Given the description of an element on the screen output the (x, y) to click on. 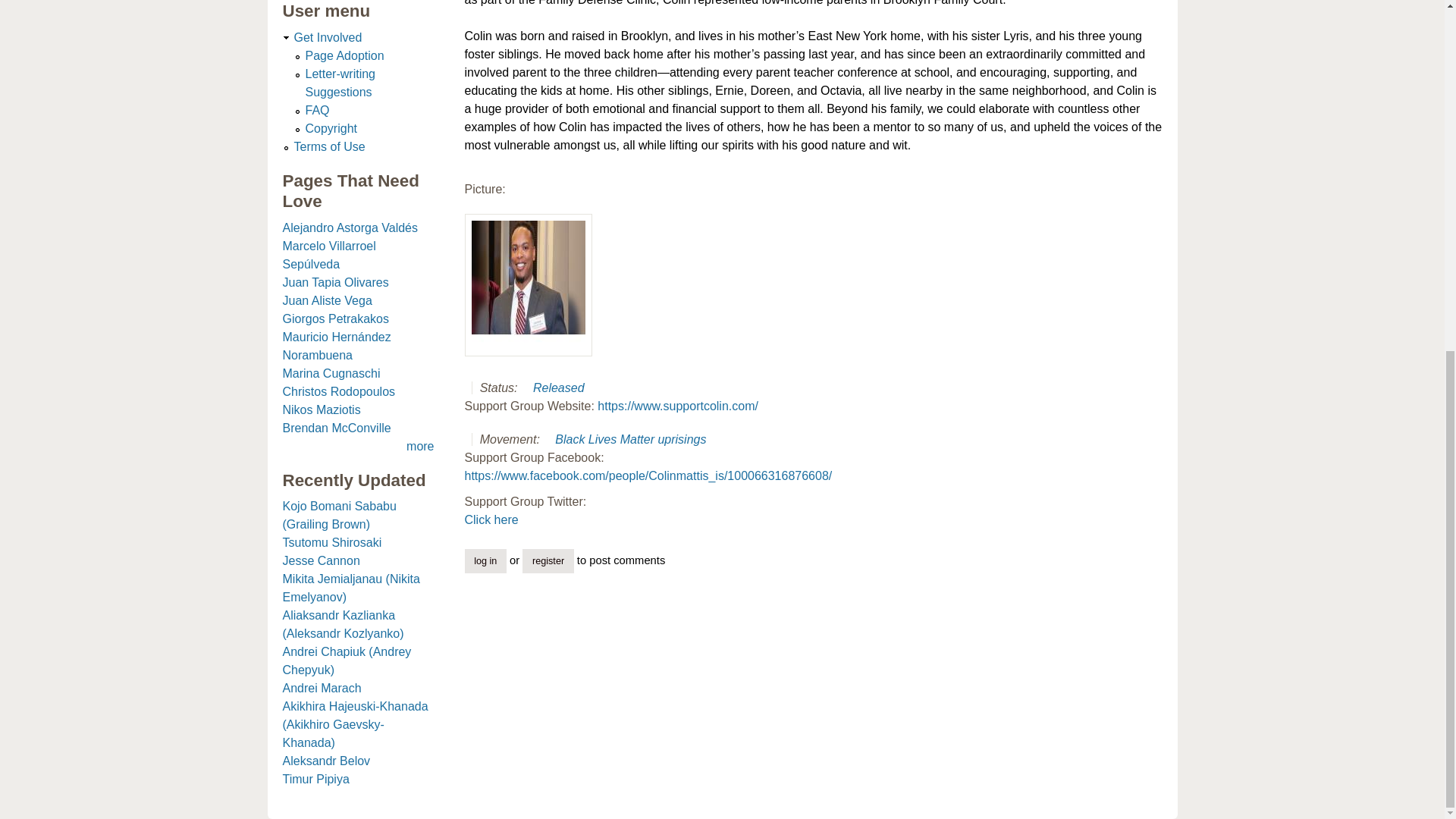
Copyright (330, 128)
more (419, 445)
Letter-writing Suggestions (339, 82)
Black Lives Matter uprisings (630, 439)
FAQ (316, 110)
Giorgos Petrakakos (335, 318)
Page Adoption (344, 55)
Brendan McConville (336, 427)
register (547, 560)
Terms of Use (329, 146)
